Given the description of an element on the screen output the (x, y) to click on. 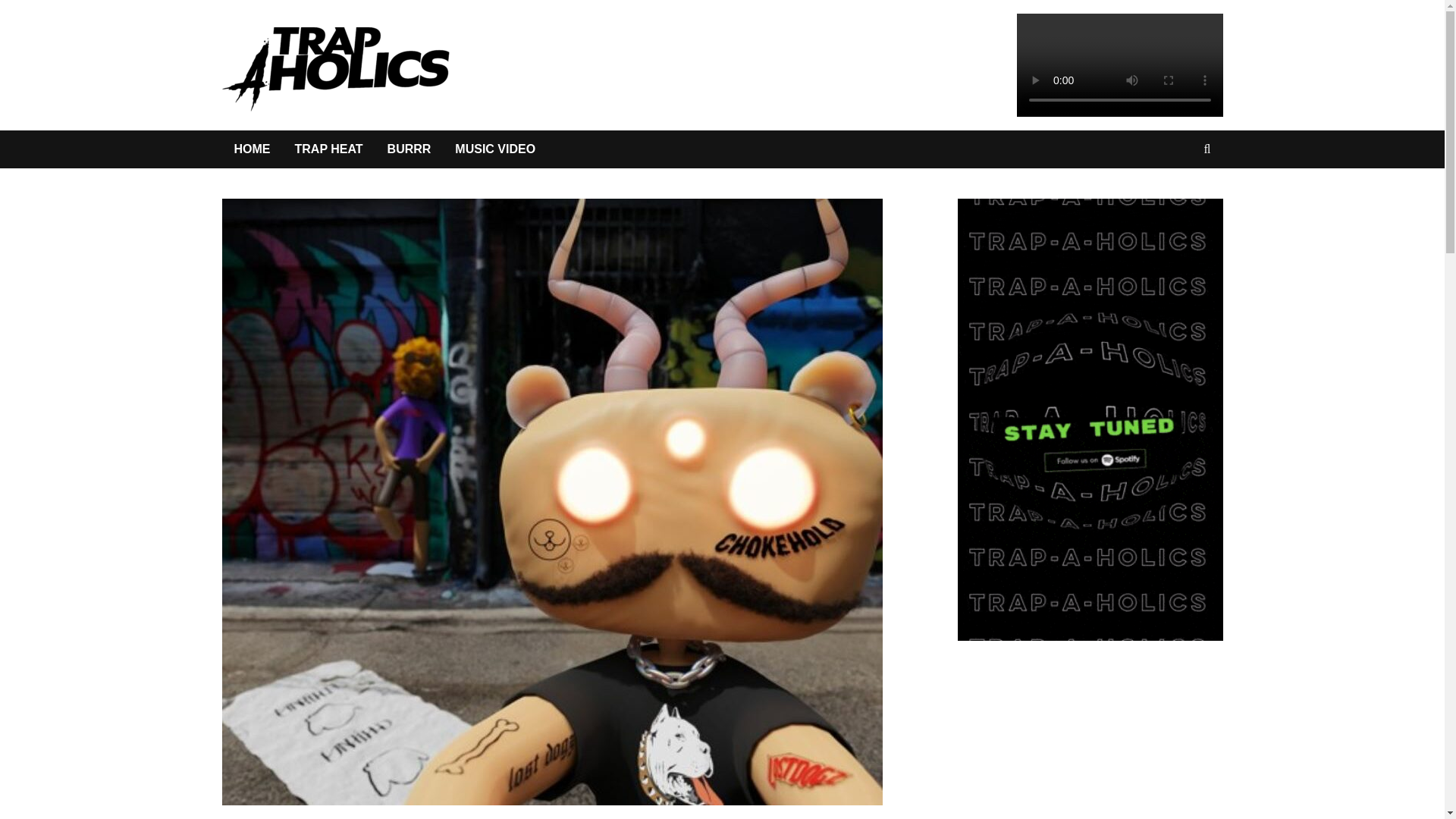
HOME (251, 149)
MUSIC VIDEO (494, 149)
Advertisement (1105, 752)
BURRR (409, 149)
TRAP HEAT (328, 149)
